Given the description of an element on the screen output the (x, y) to click on. 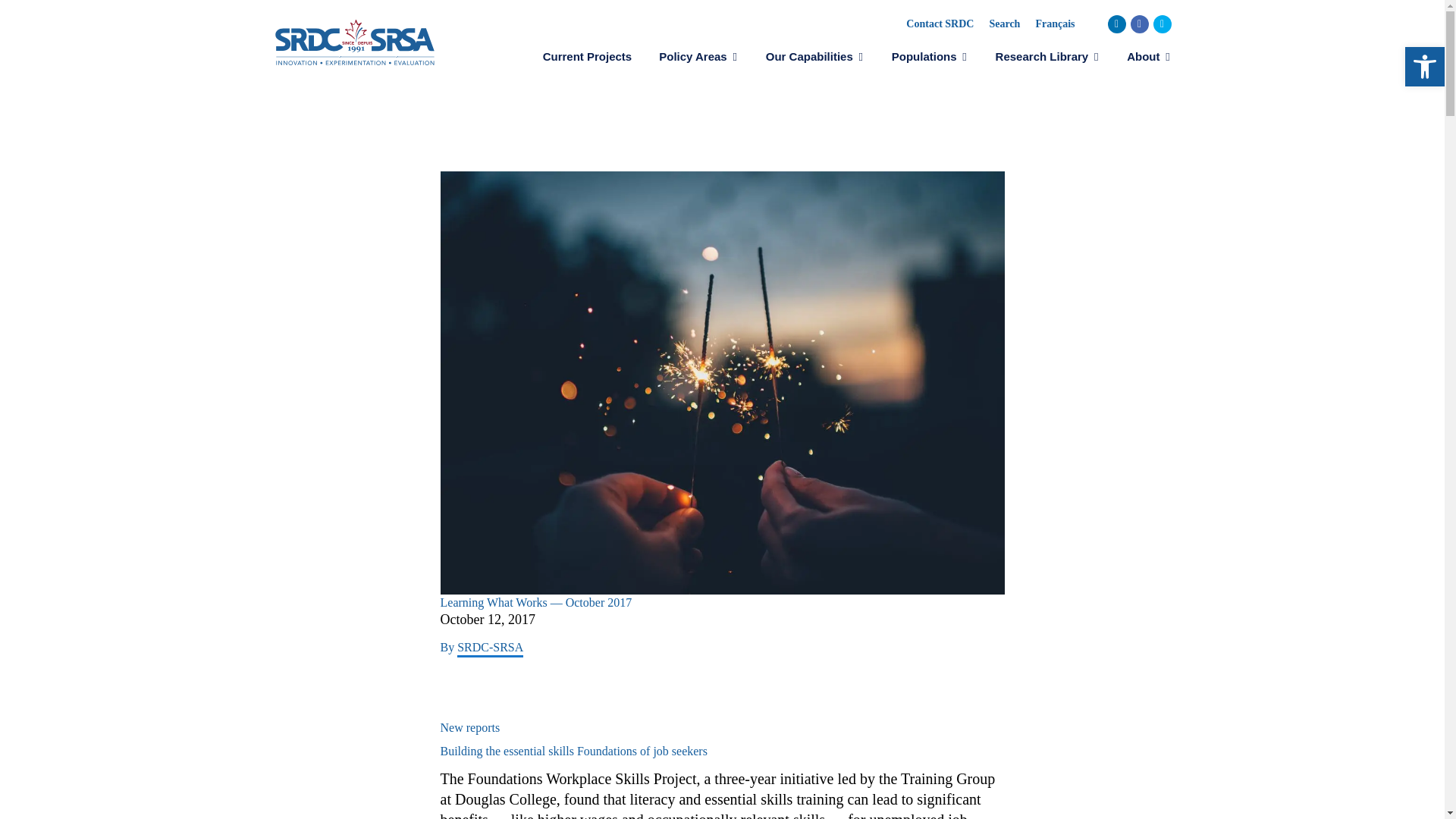
Facebook (1138, 24)
Accessibility Tools (1424, 66)
Policy Areas (698, 56)
Current Projects (587, 56)
Our Capabilities (814, 56)
LinkedIn (1115, 24)
SRDC (354, 41)
